Given the description of an element on the screen output the (x, y) to click on. 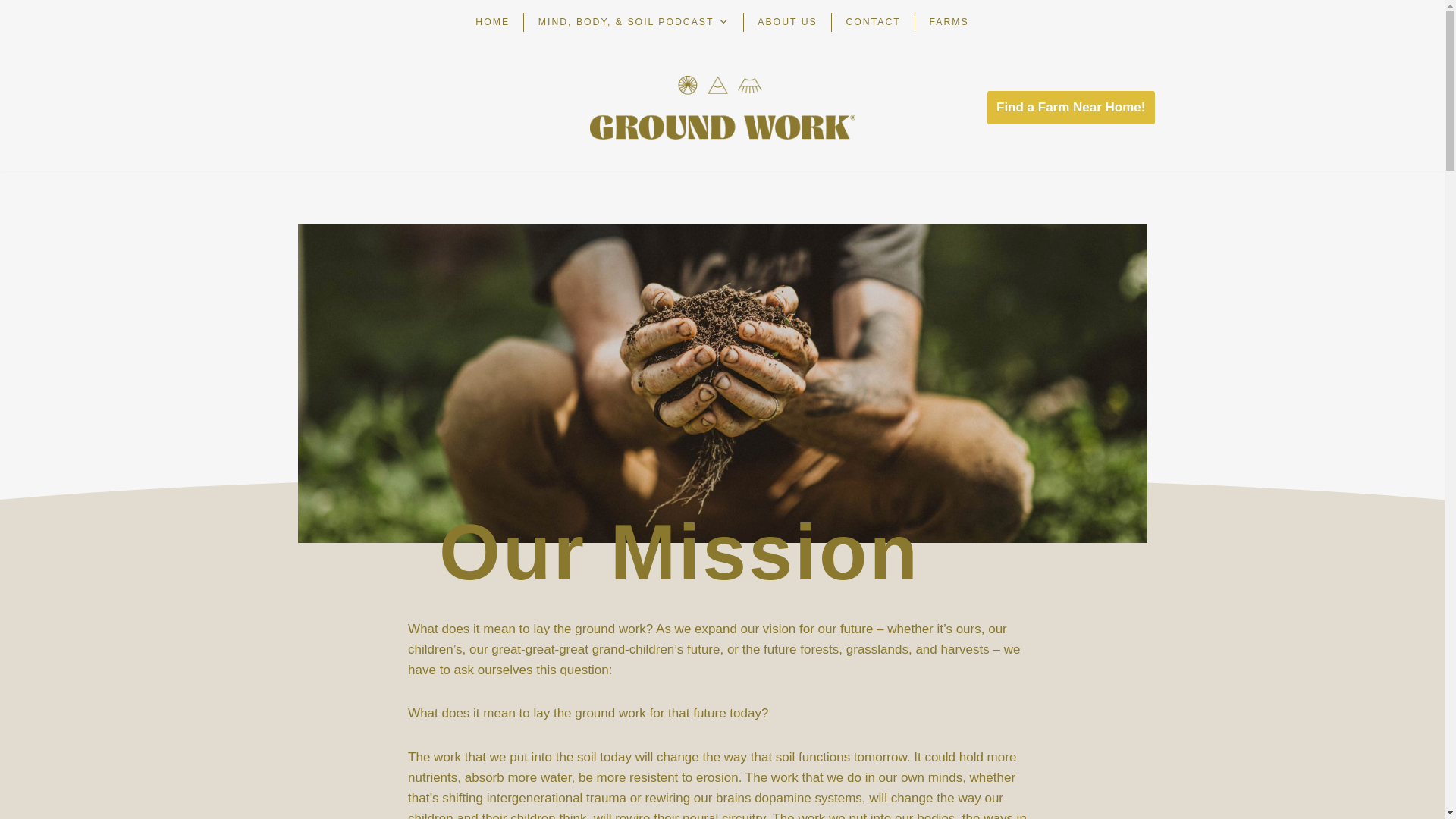
Find a Farm Near Home! (1070, 106)
ABOUT US (787, 22)
CONTACT (872, 22)
HOME (492, 22)
Skip to content (11, 31)
FARMS (948, 22)
Ground Work Collective (722, 107)
